Given the description of an element on the screen output the (x, y) to click on. 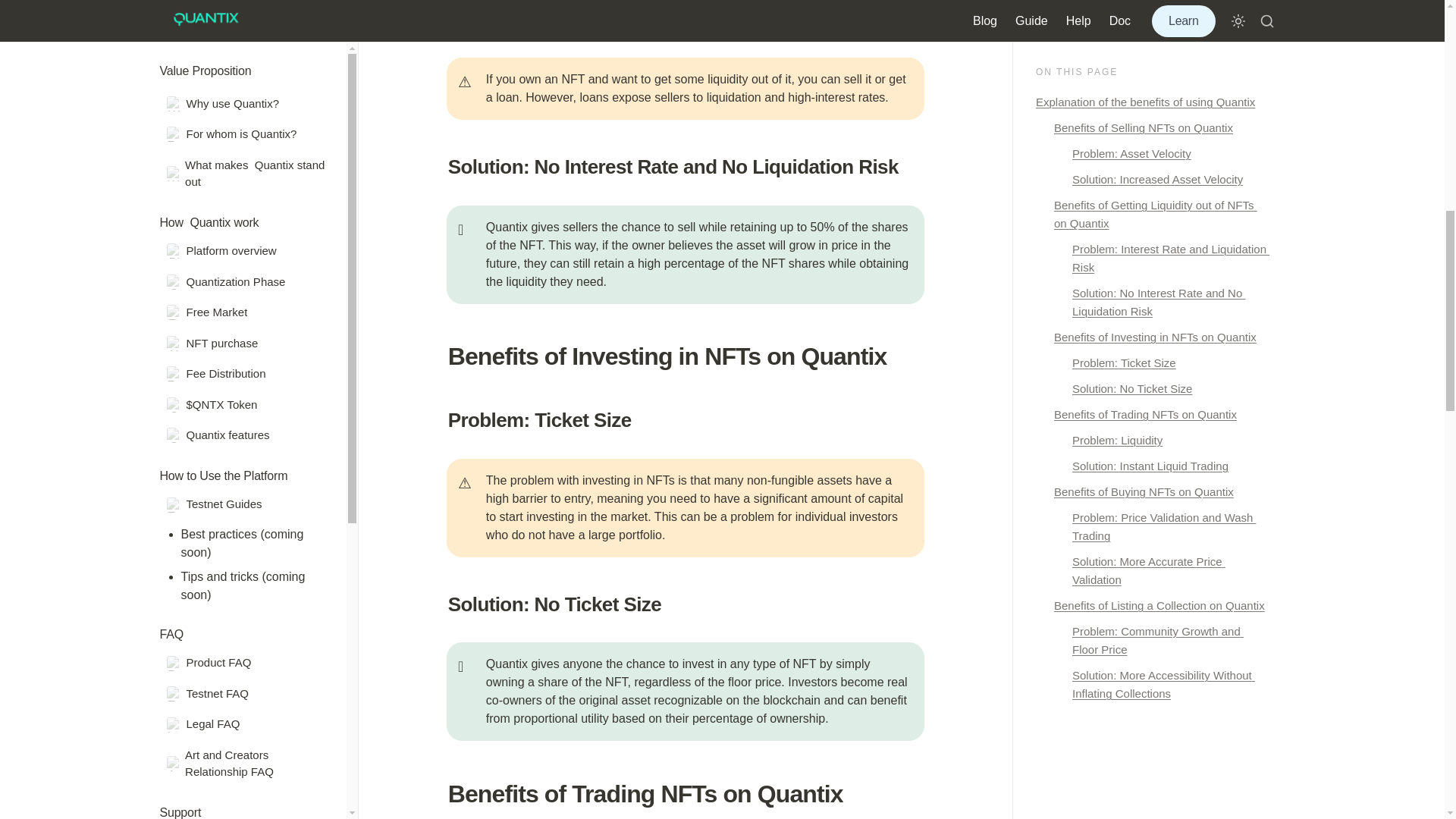
Testnet Guides (246, 340)
Quantix Blog (246, 416)
Learn Web3 (246, 263)
Learn Quantix (246, 110)
Help Center (246, 21)
Help Center (246, 187)
